Given the description of an element on the screen output the (x, y) to click on. 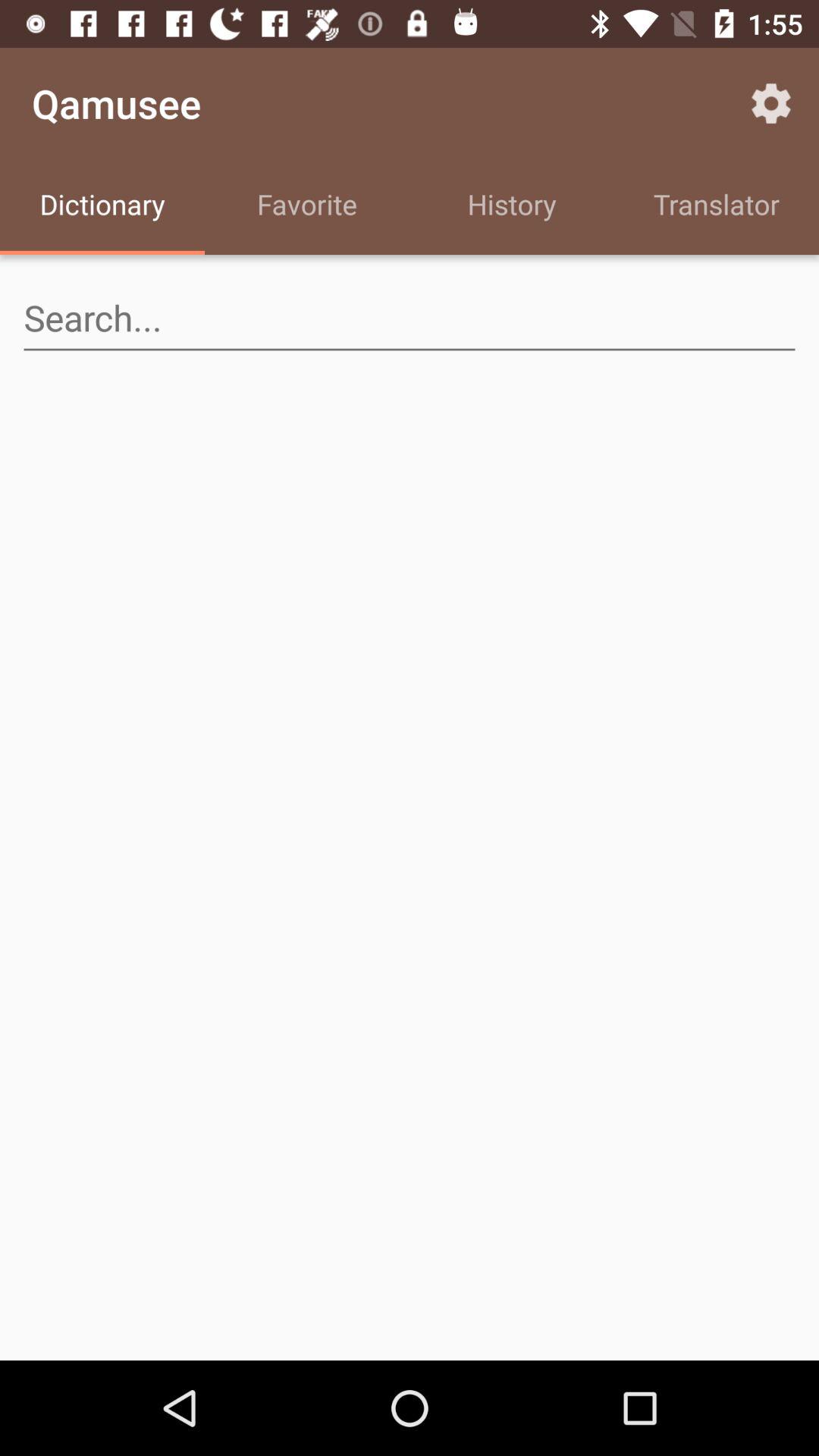
tap the icon to the left of the favorite (102, 206)
